Given the description of an element on the screen output the (x, y) to click on. 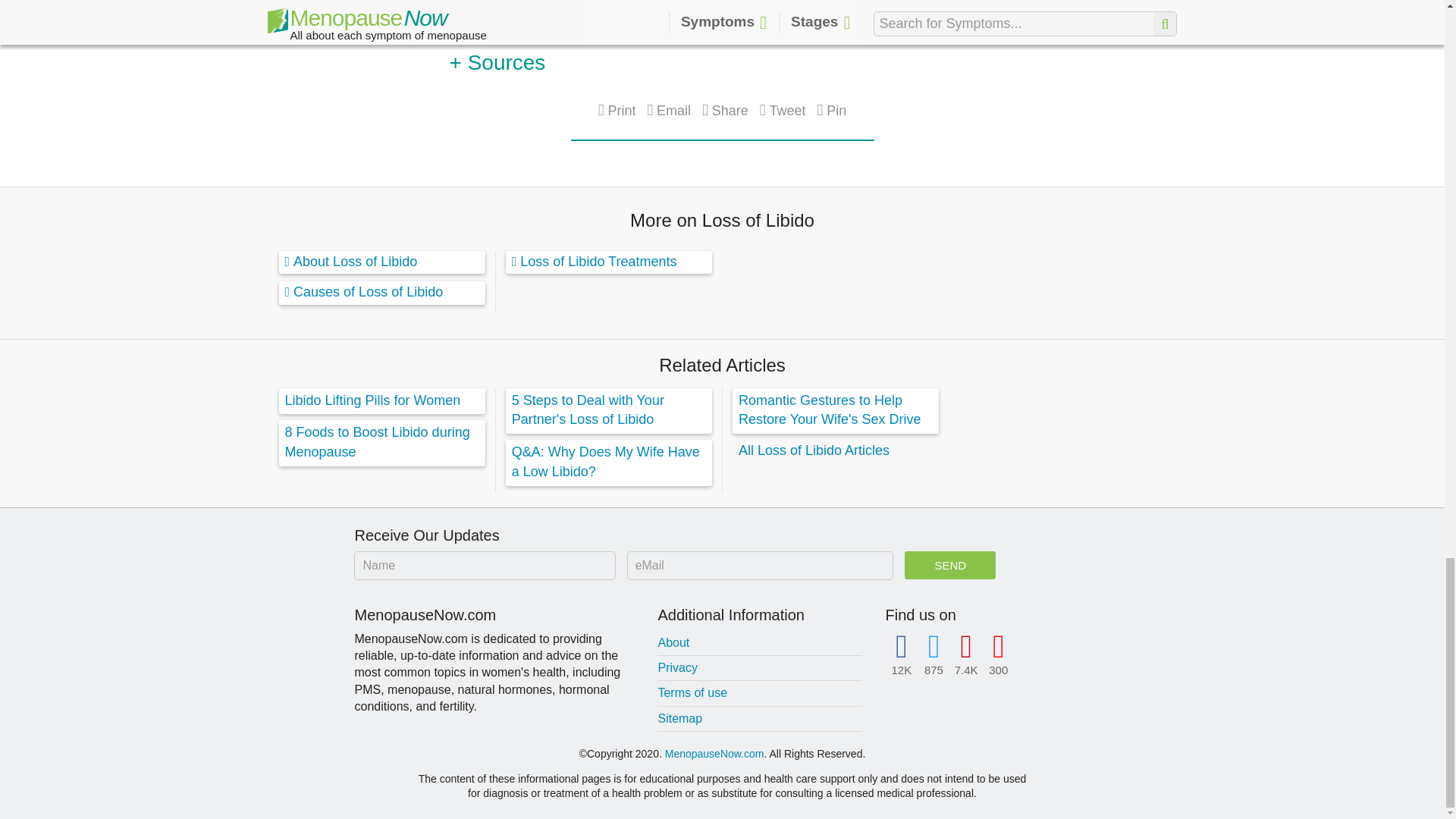
Email this page (668, 109)
Share on Pinterest (831, 109)
Print this page (617, 109)
Share on Twitter (783, 109)
Share on Facebook (724, 109)
